Given the description of an element on the screen output the (x, y) to click on. 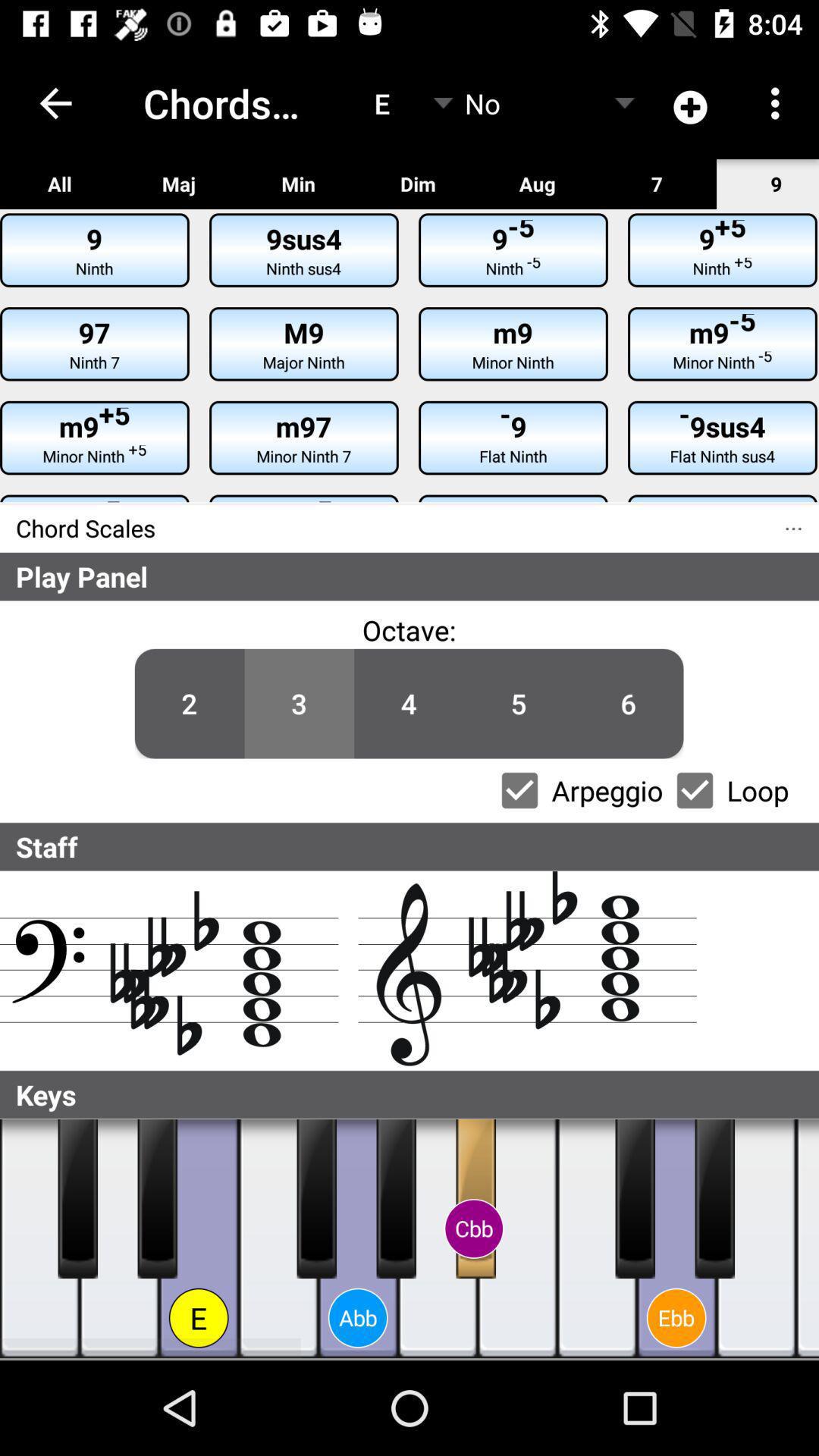
flip until the 3 item (299, 703)
